Given the description of an element on the screen output the (x, y) to click on. 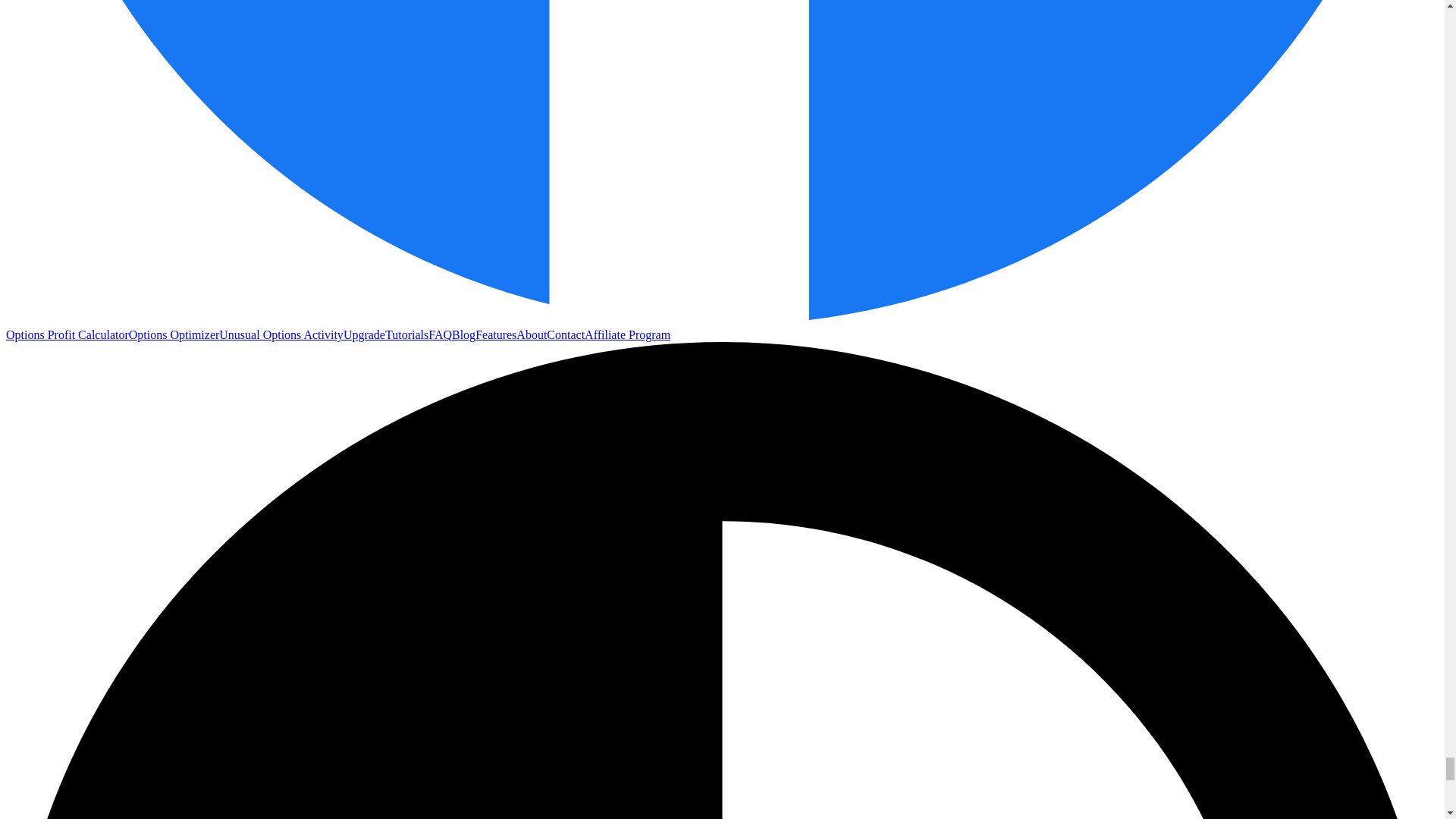
Frequently Asked Questions (439, 334)
